Given the description of an element on the screen output the (x, y) to click on. 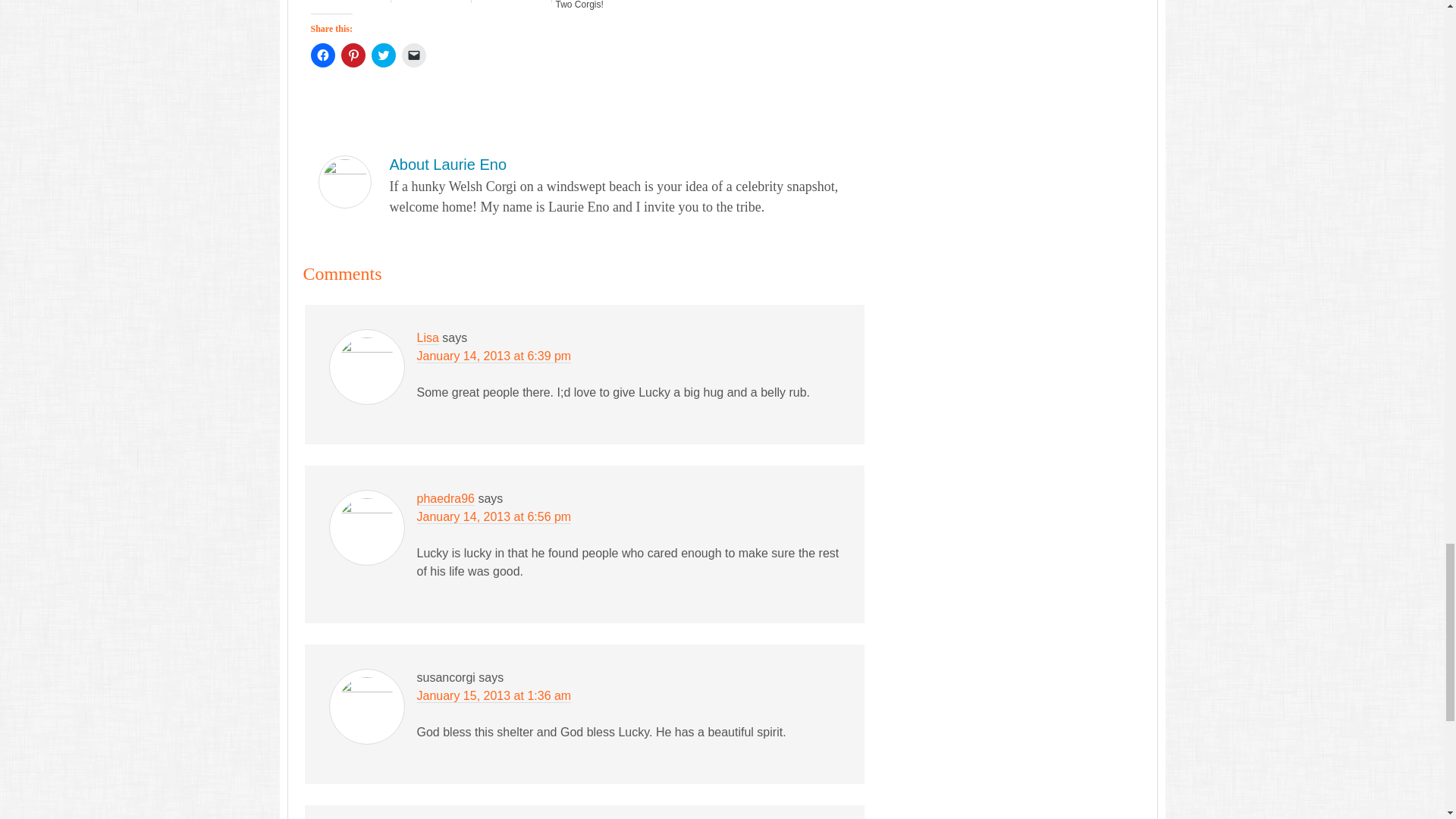
phaedra96 (446, 499)
January 14, 2013 at 6:39 pm (494, 356)
Lisa (427, 337)
